Given the description of an element on the screen output the (x, y) to click on. 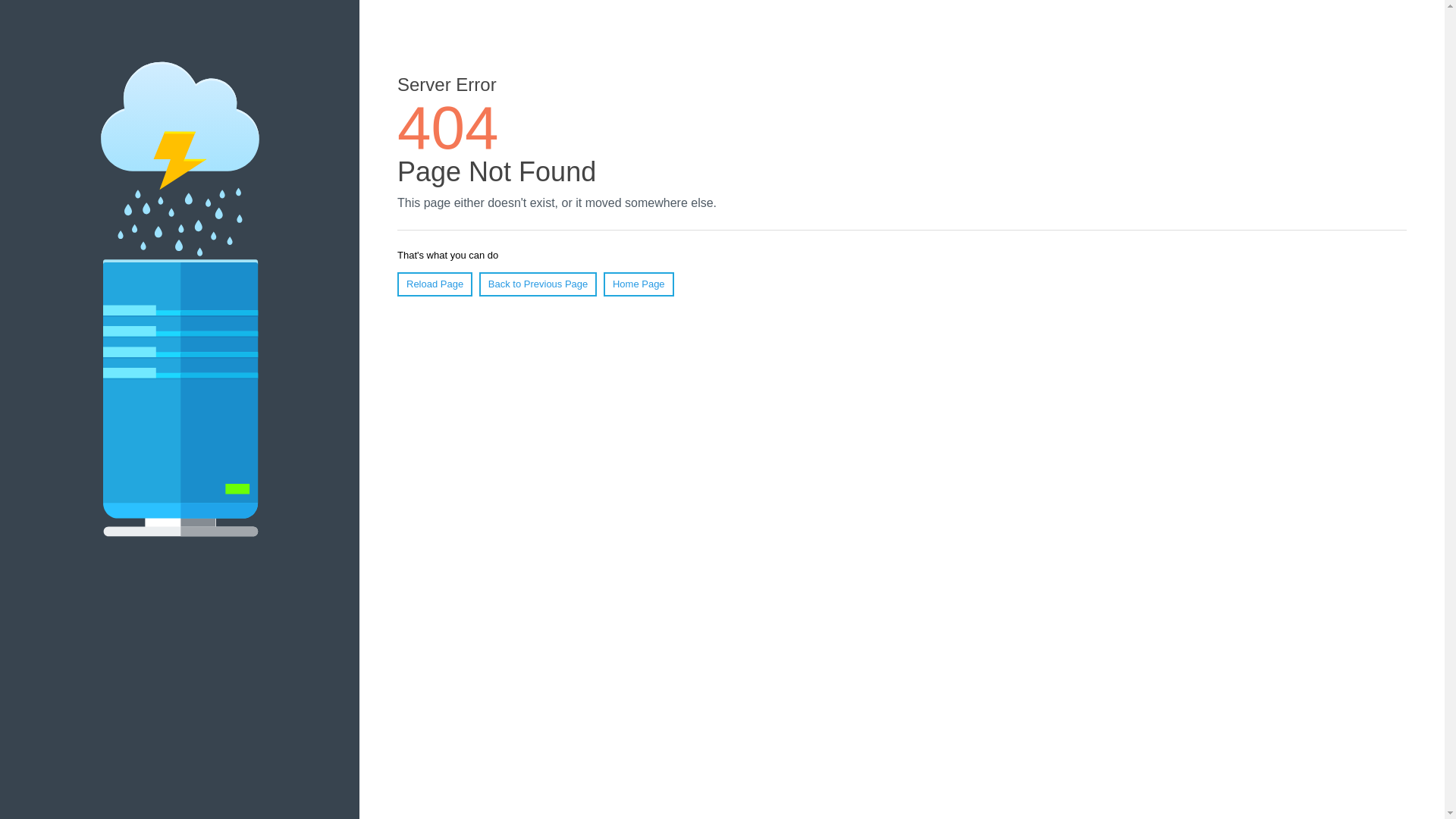
Reload Page Element type: text (434, 284)
Back to Previous Page Element type: text (538, 284)
Home Page Element type: text (638, 284)
